Given the description of an element on the screen output the (x, y) to click on. 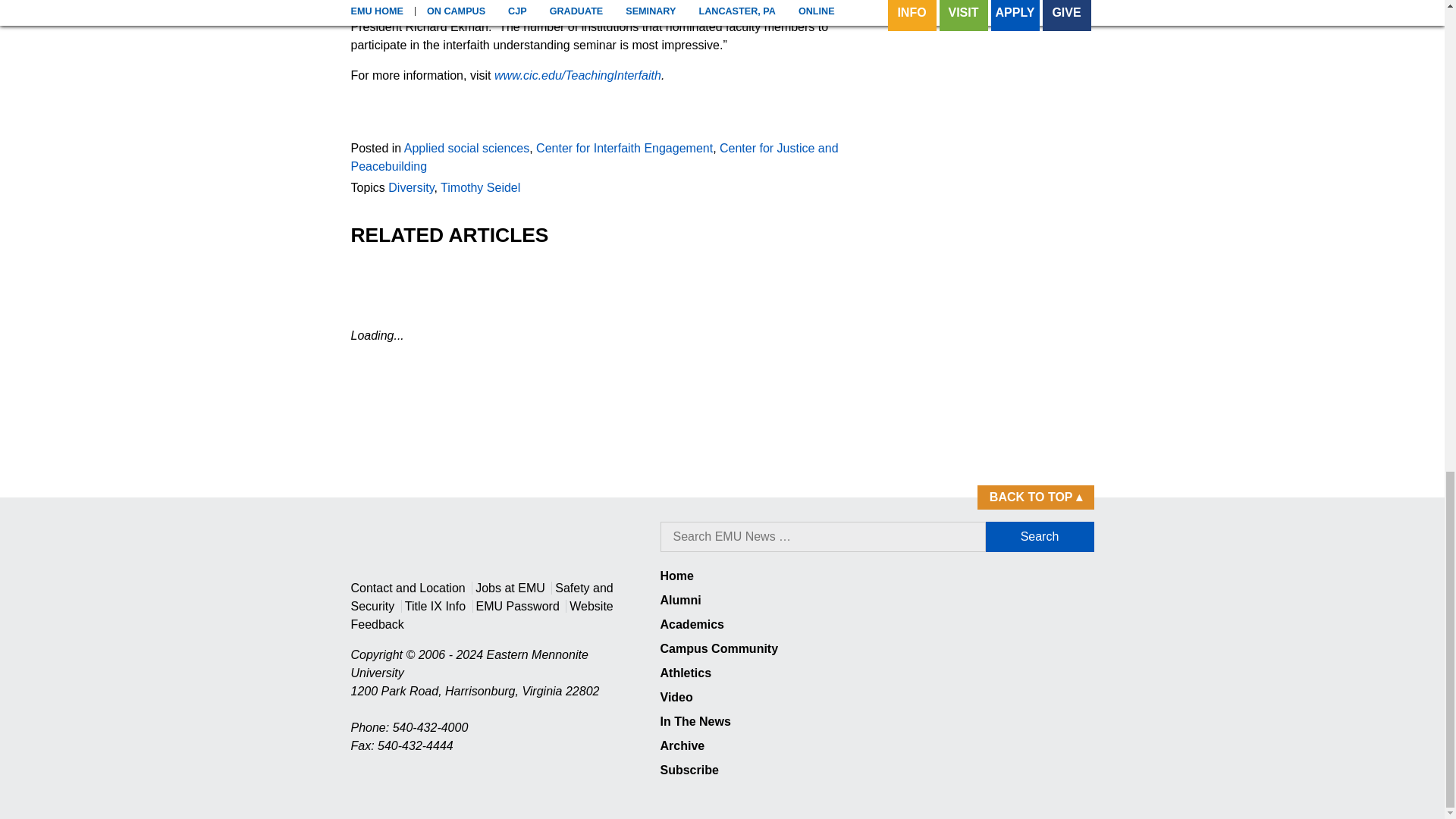
Reset your EMU Password (516, 605)
Contact EMU (408, 587)
Search for: (822, 536)
Title IX Info (434, 605)
Search (1039, 536)
Jobs at EMU (509, 587)
Safety and Security Info (481, 596)
Applied social sciences (466, 147)
Search (1039, 536)
